Given the description of an element on the screen output the (x, y) to click on. 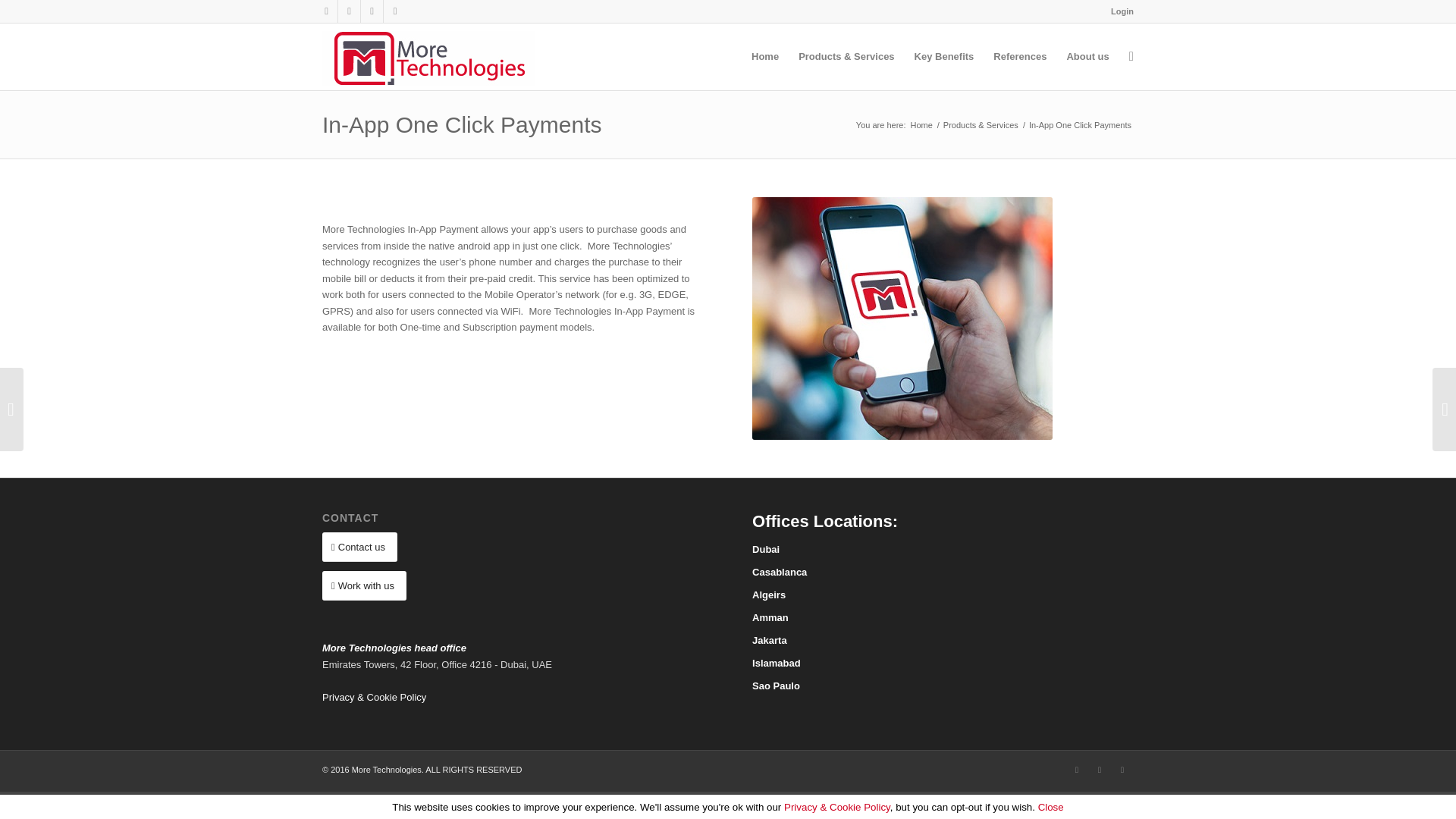
More Technologies Easy Monetization (920, 125)
In-App One Click Payments (461, 124)
Work with us (363, 585)
Contact us (359, 546)
Permanent Link: In-App One Click Payments (461, 124)
References (1020, 56)
About us (1087, 56)
Youtube (371, 11)
Youtube (1122, 769)
Linkedin (348, 11)
Home (765, 56)
Linkedin (1098, 769)
Login as User or Merchant (1122, 11)
Login (1122, 11)
Key Benefits (944, 56)
